Given the description of an element on the screen output the (x, y) to click on. 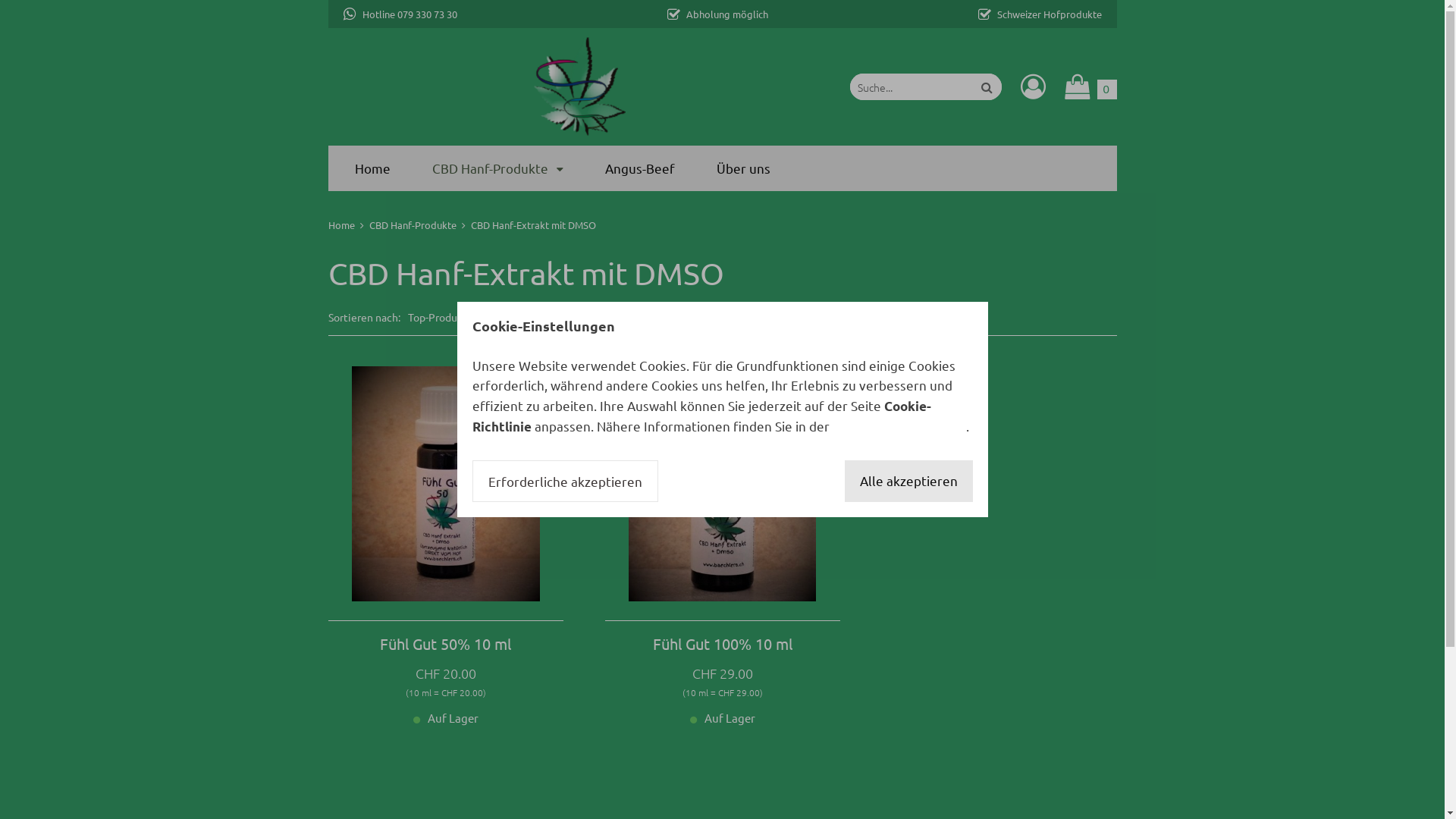
Home Element type: text (340, 224)
Suche Element type: text (985, 86)
CBD Hanf-Extrakt mit DMSO Element type: text (532, 224)
Angus-Beef Element type: text (639, 167)
Home Element type: text (372, 167)
CBD Hanf-Produkte Element type: text (497, 167)
Erforderliche akzeptieren Element type: text (564, 481)
Warenkorb anzeigen. Sie haben 0 Artikel im Warenkorb.
0 Element type: text (1090, 86)
Alle akzeptieren Element type: text (908, 481)
CBD Hanf-Produkte Element type: text (411, 224)
